Given the description of an element on the screen output the (x, y) to click on. 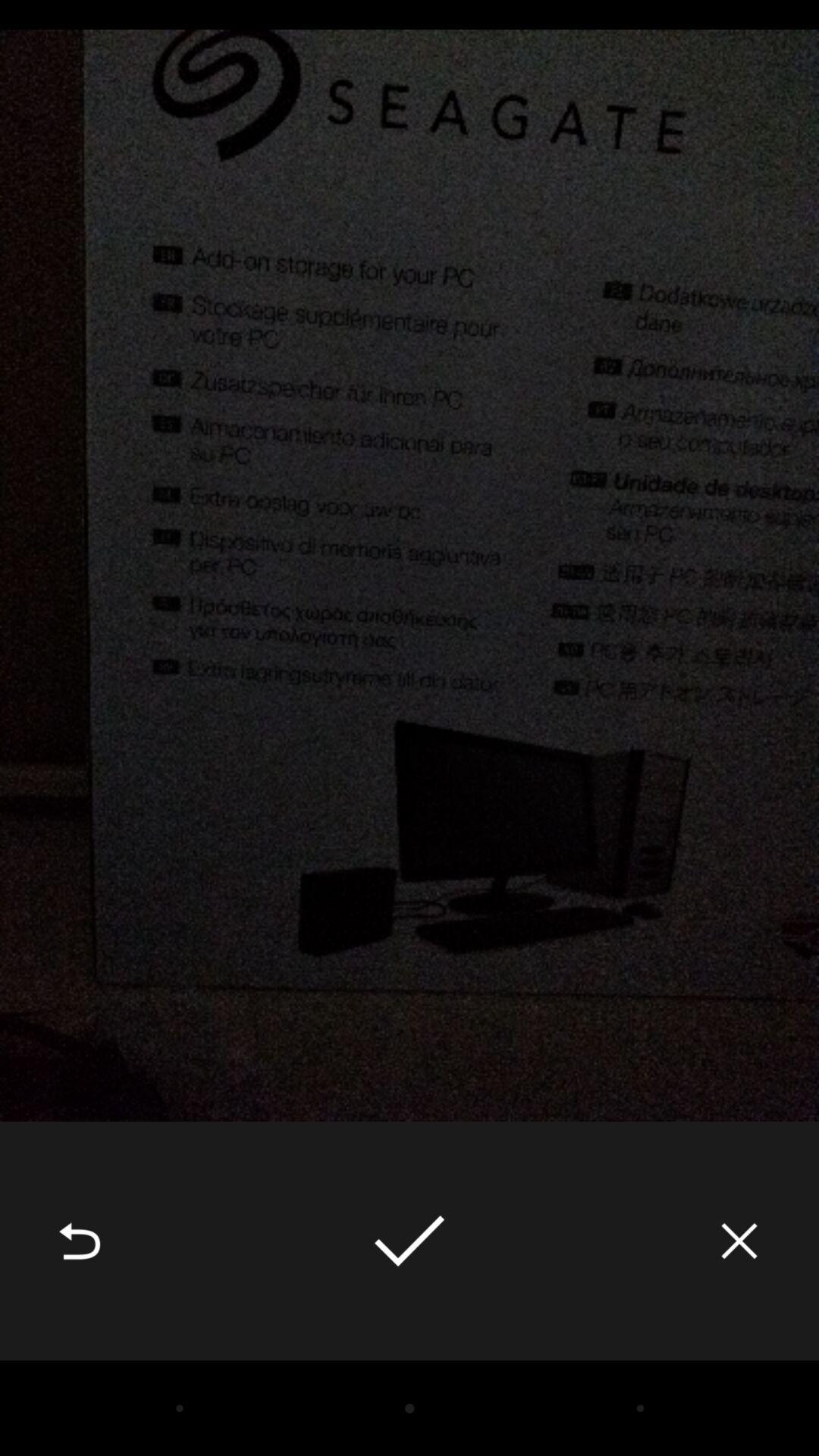
press the item at the bottom right corner (739, 1240)
